Given the description of an element on the screen output the (x, y) to click on. 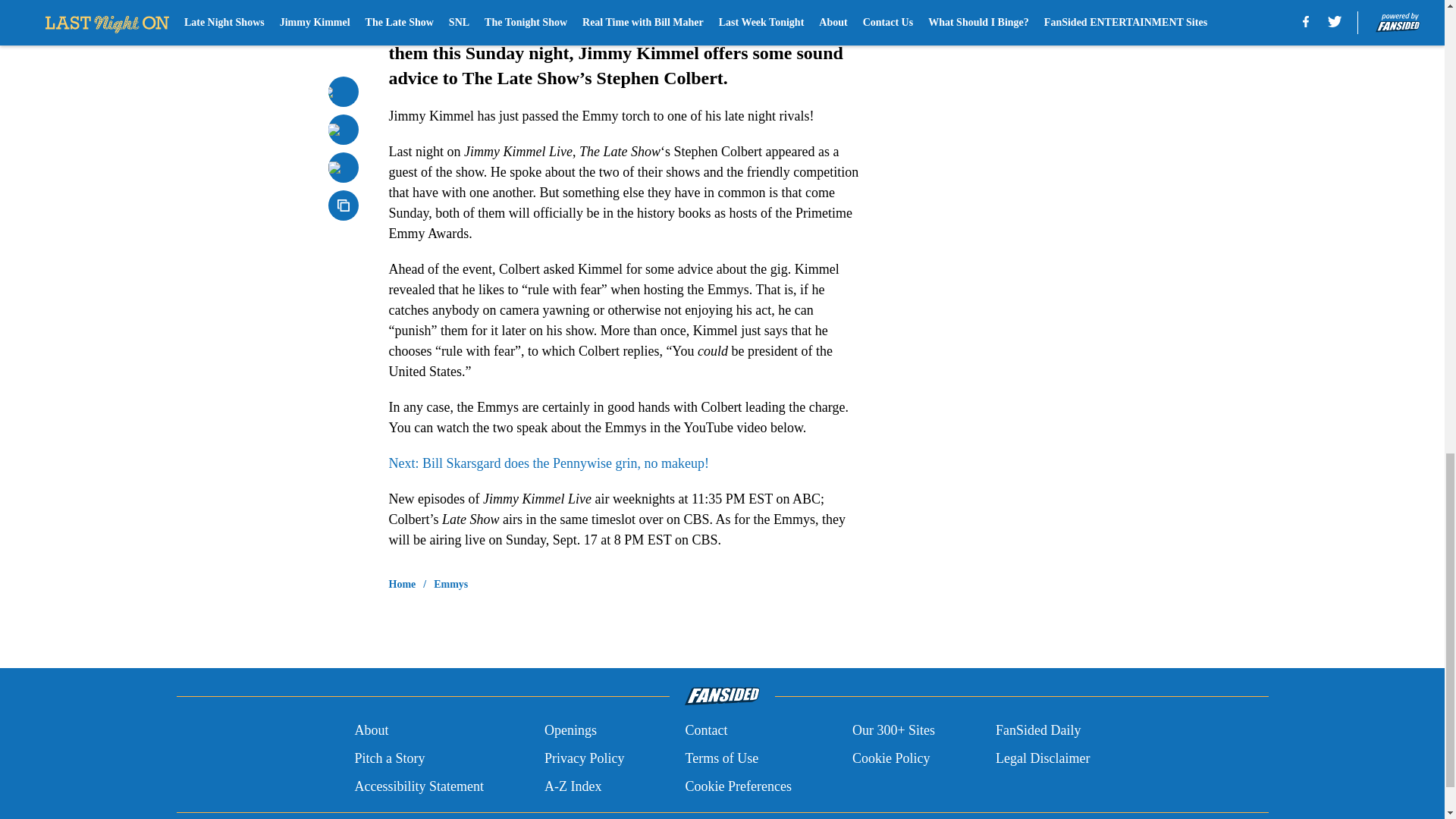
Privacy Policy (584, 758)
Emmys (450, 584)
A-Z Index (572, 786)
FanSided Daily (1038, 730)
Home (401, 584)
Cookie Preferences (737, 786)
Next: Bill Skarsgard does the Pennywise grin, no makeup! (547, 462)
Openings (570, 730)
Contact (705, 730)
Accessibility Statement (418, 786)
